Given the description of an element on the screen output the (x, y) to click on. 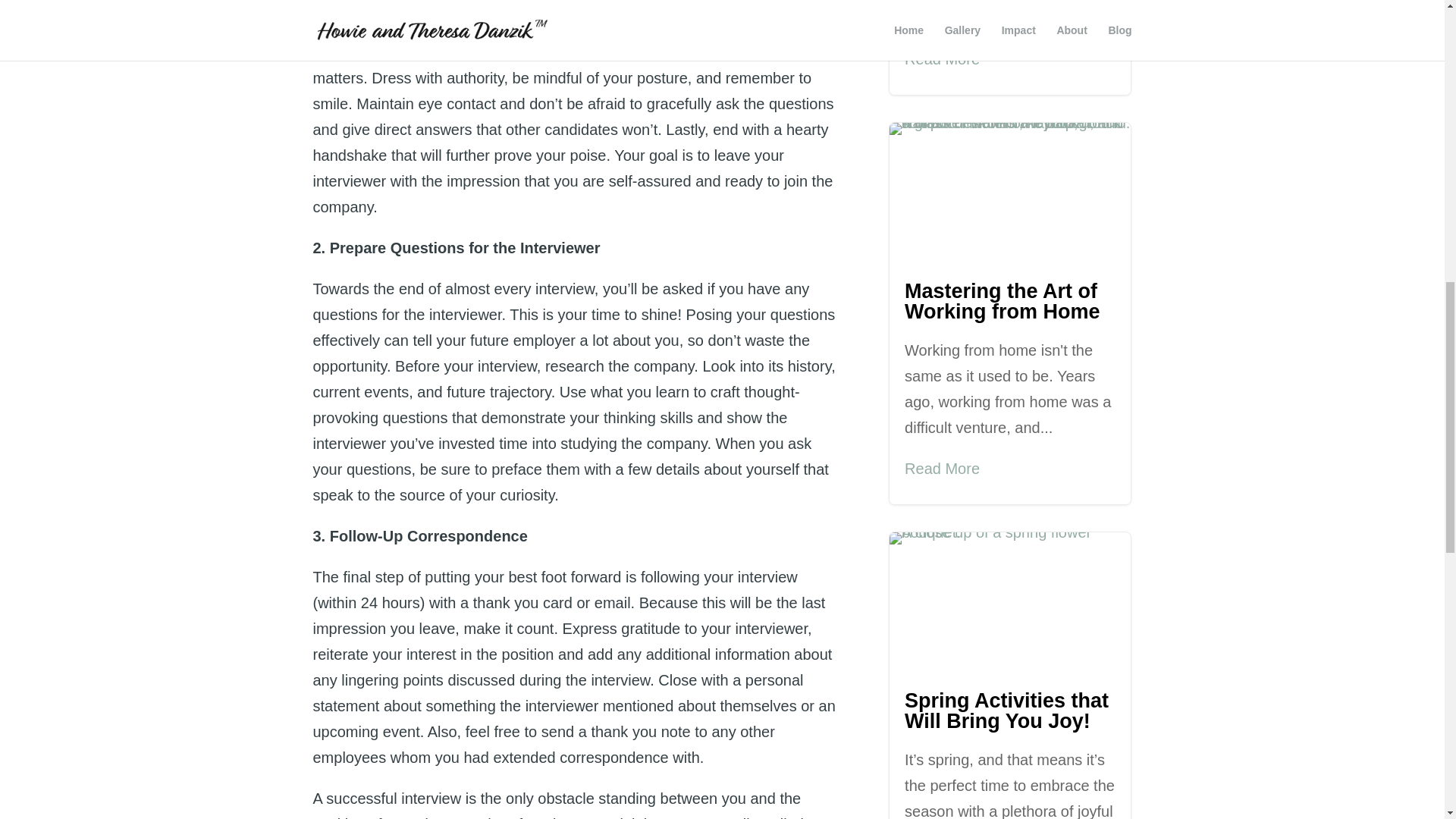
Read More (941, 468)
Mastering the Art of Working from Home (1002, 301)
Read More (941, 58)
Spring Activities that Will Bring You Joy!  (1006, 710)
